Given the description of an element on the screen output the (x, y) to click on. 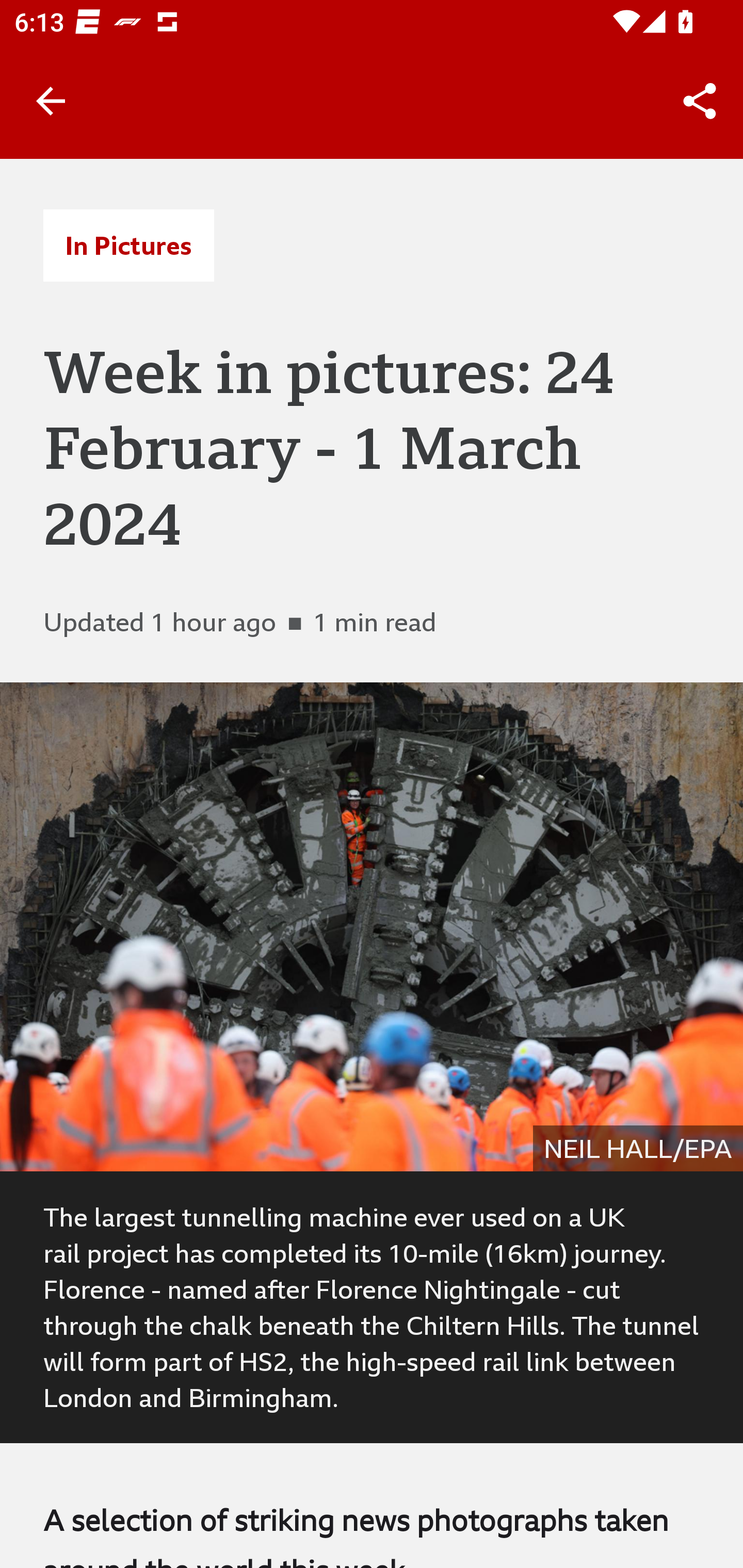
Back (50, 101)
Share (699, 101)
In Pictures (128, 245)
